Given the description of an element on the screen output the (x, y) to click on. 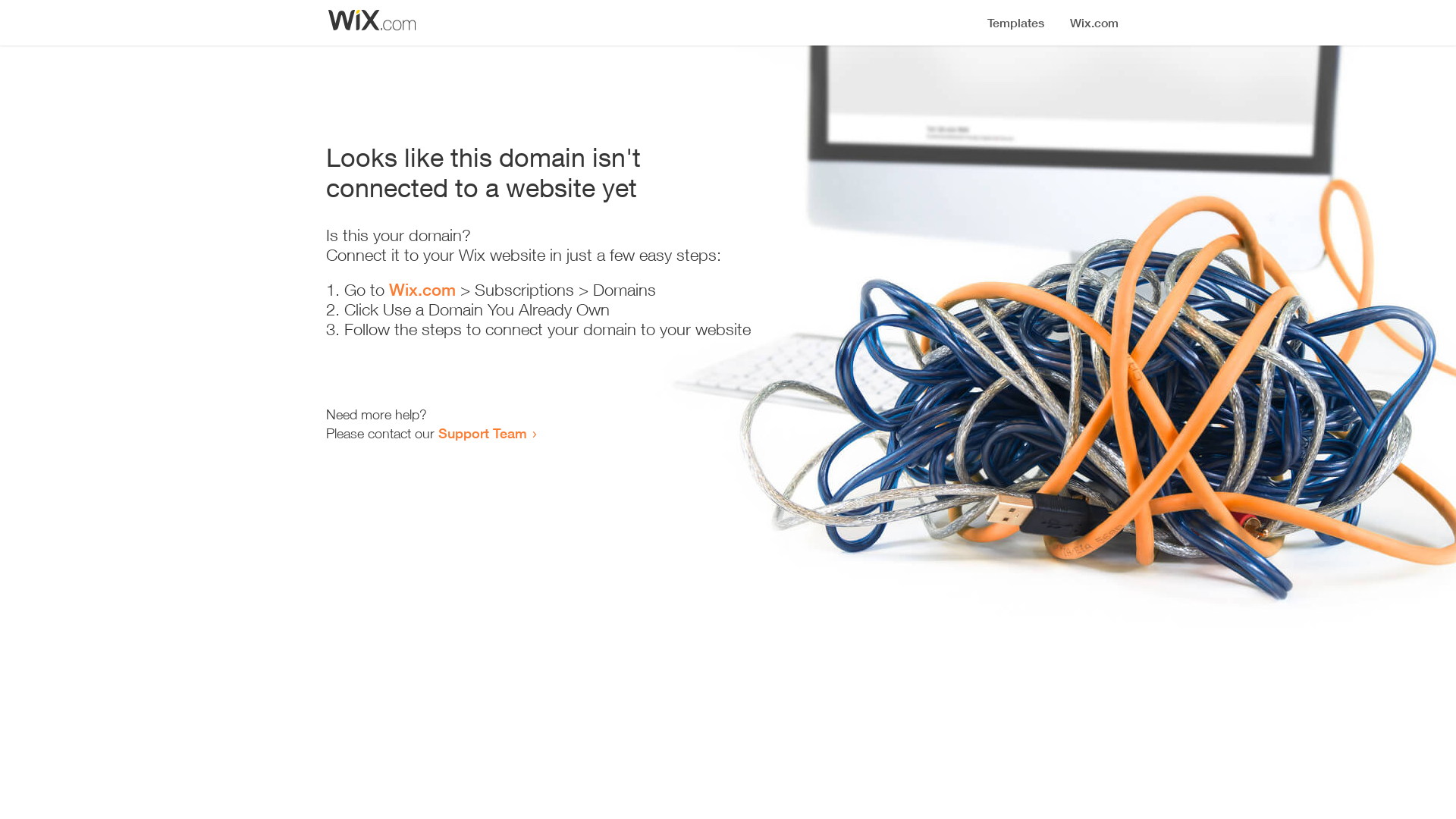
Support Team Element type: text (482, 432)
Wix.com Element type: text (422, 289)
